Given the description of an element on the screen output the (x, y) to click on. 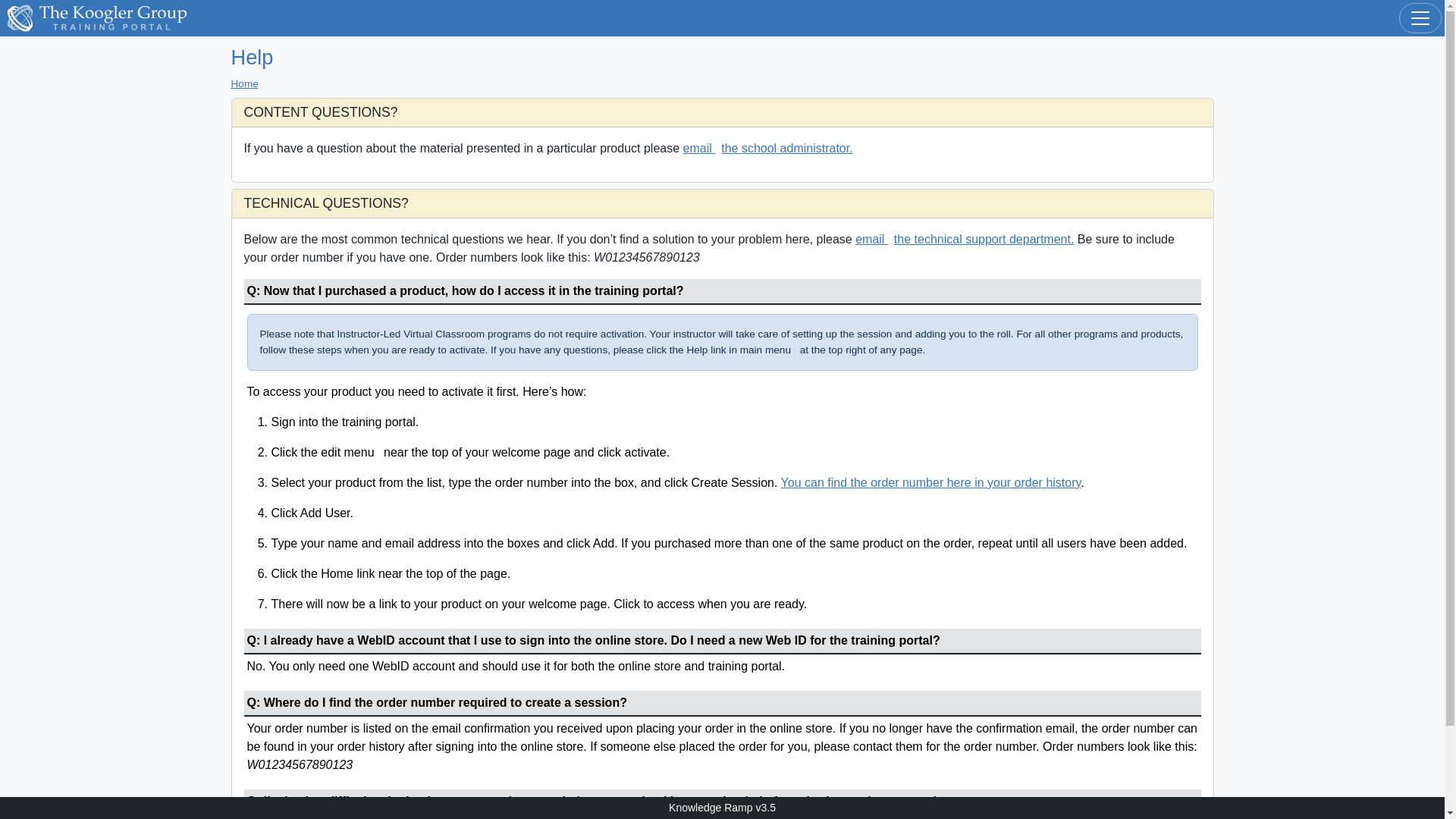
Home (243, 83)
email the school administrator. (767, 147)
email the technical support department. (965, 238)
You can find the order number here in your order history (930, 481)
